Given the description of an element on the screen output the (x, y) to click on. 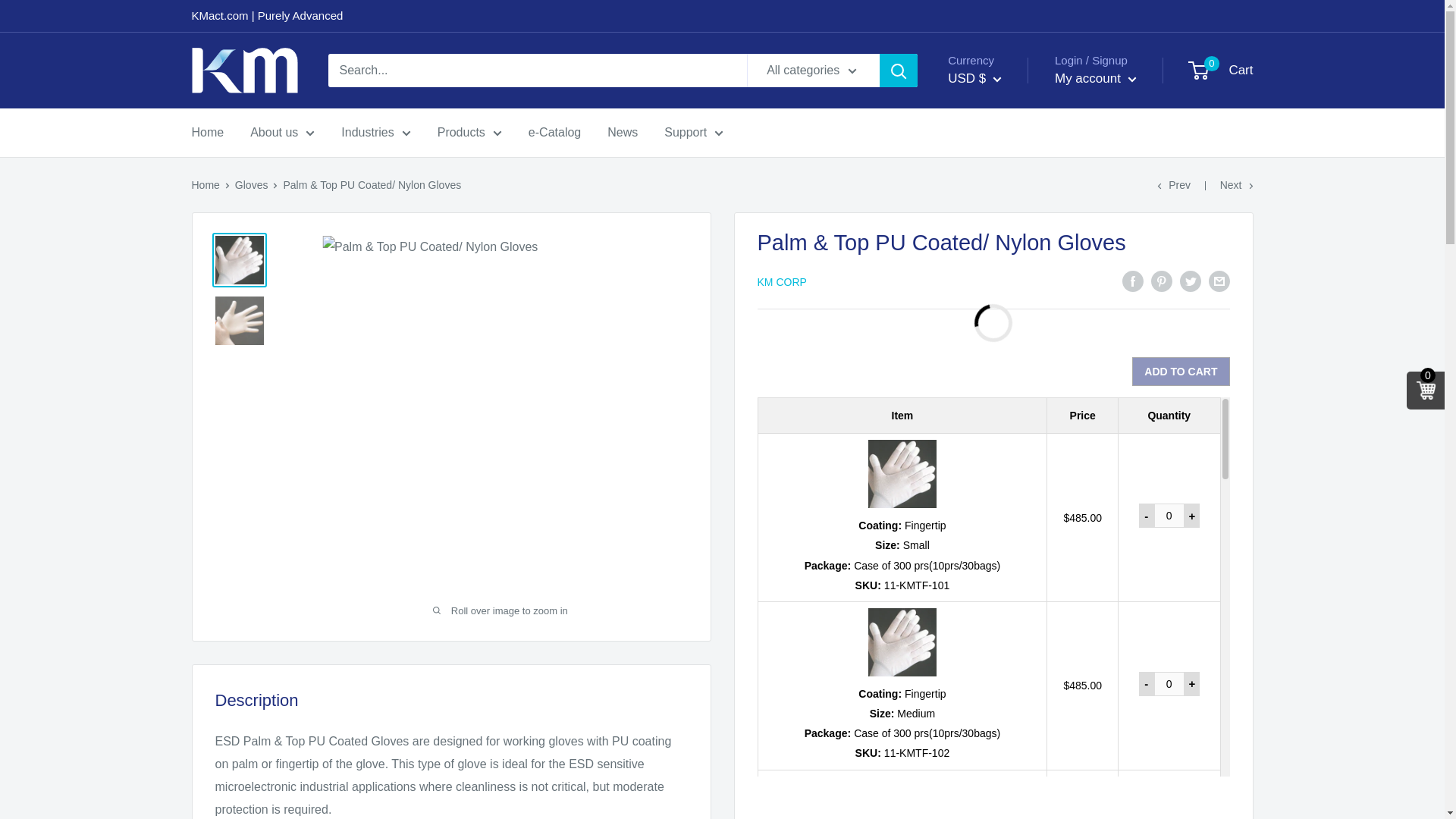
0 (1169, 683)
0 (1169, 515)
